Given the description of an element on the screen output the (x, y) to click on. 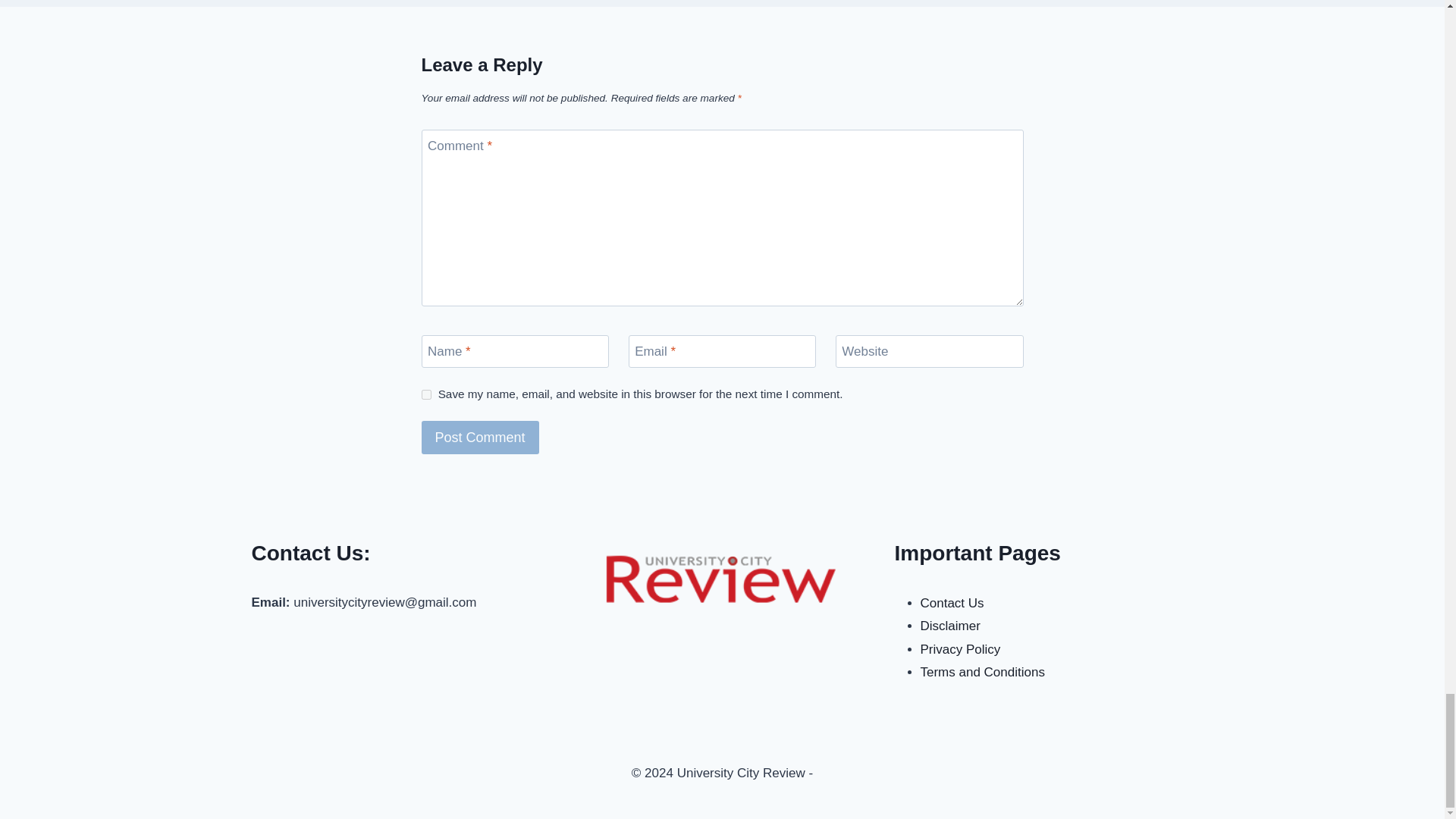
yes (426, 394)
Post Comment (480, 436)
